Given the description of an element on the screen output the (x, y) to click on. 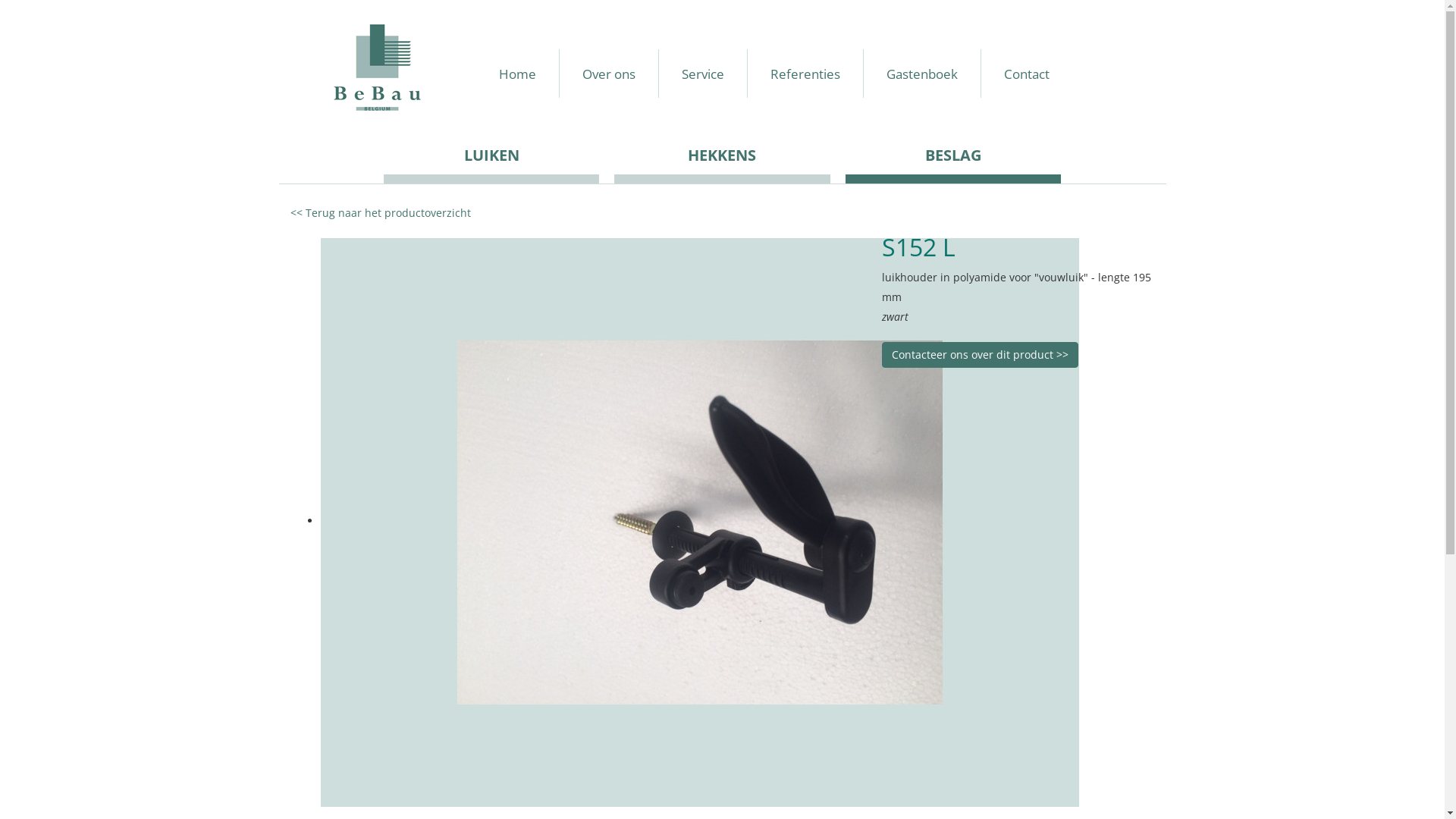
Contact Element type: text (1026, 73)
LUIKEN Element type: text (491, 160)
BESLAG Element type: text (952, 160)
Referenties Element type: text (804, 73)
Contacteer ons over dit product >> Element type: text (979, 354)
Service Element type: text (702, 73)
Gastenboek Element type: text (921, 73)
Home Element type: text (517, 73)
<< Terug naar het productoverzicht Element type: text (379, 212)
Over ons Element type: text (608, 73)
HEKKENS Element type: text (721, 160)
